Given the description of an element on the screen output the (x, y) to click on. 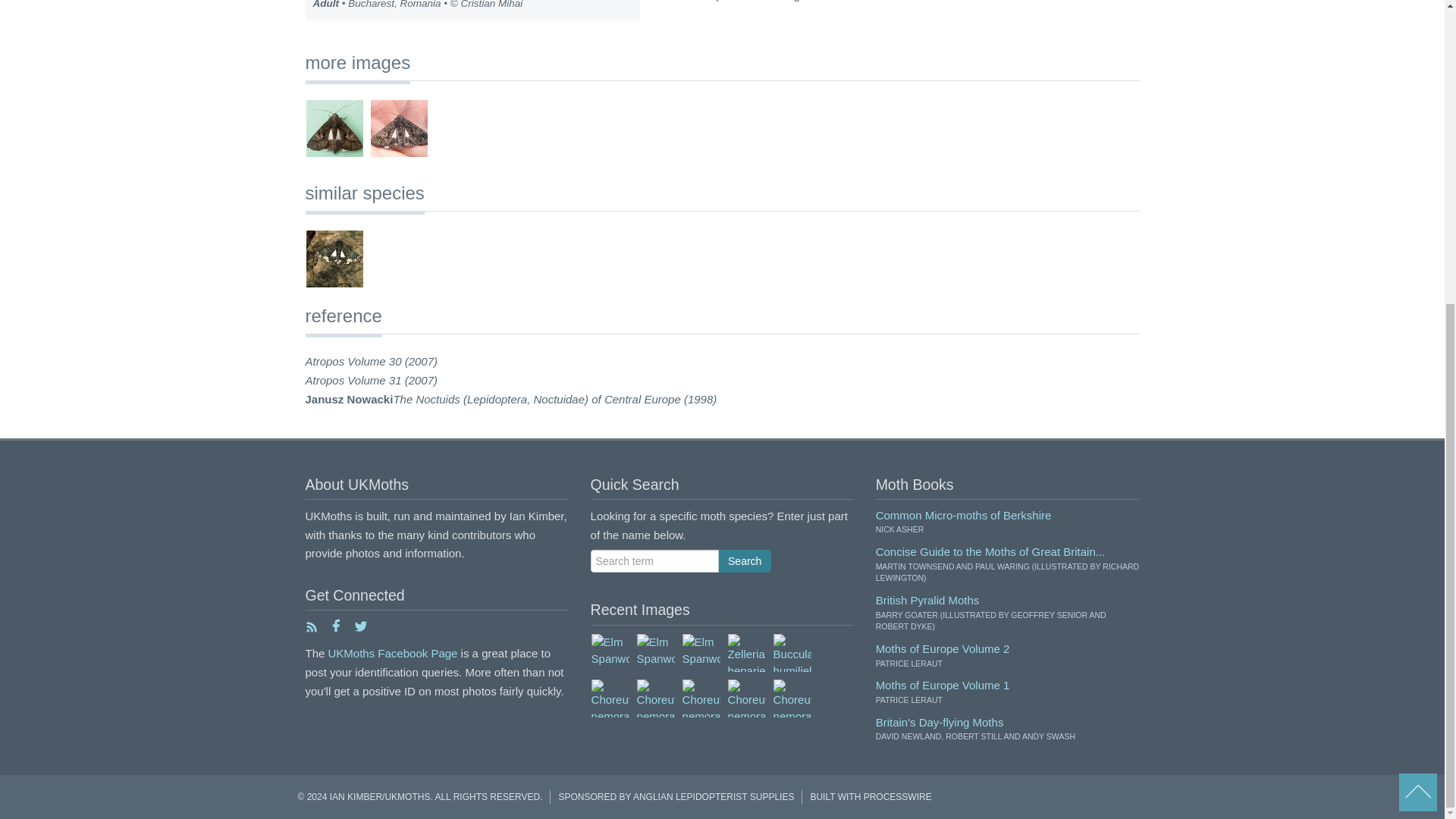
Bucculatrix humiliella (791, 652)
Zelleria hepariella (745, 652)
Follow UKMoths on Twitter (359, 628)
 Elm Spanworm Ennomos subsignaria (655, 652)
Latest additions RSS feed (310, 628)
72.085 The Alchymist Catephia alchymista (333, 259)
Choreutis nemorana (609, 698)
 Elm Spanworm Ennomos subsignaria (609, 652)
Follow UKMoths on Facebook (334, 628)
 Elm Spanworm Ennomos subsignaria (700, 652)
